Given the description of an element on the screen output the (x, y) to click on. 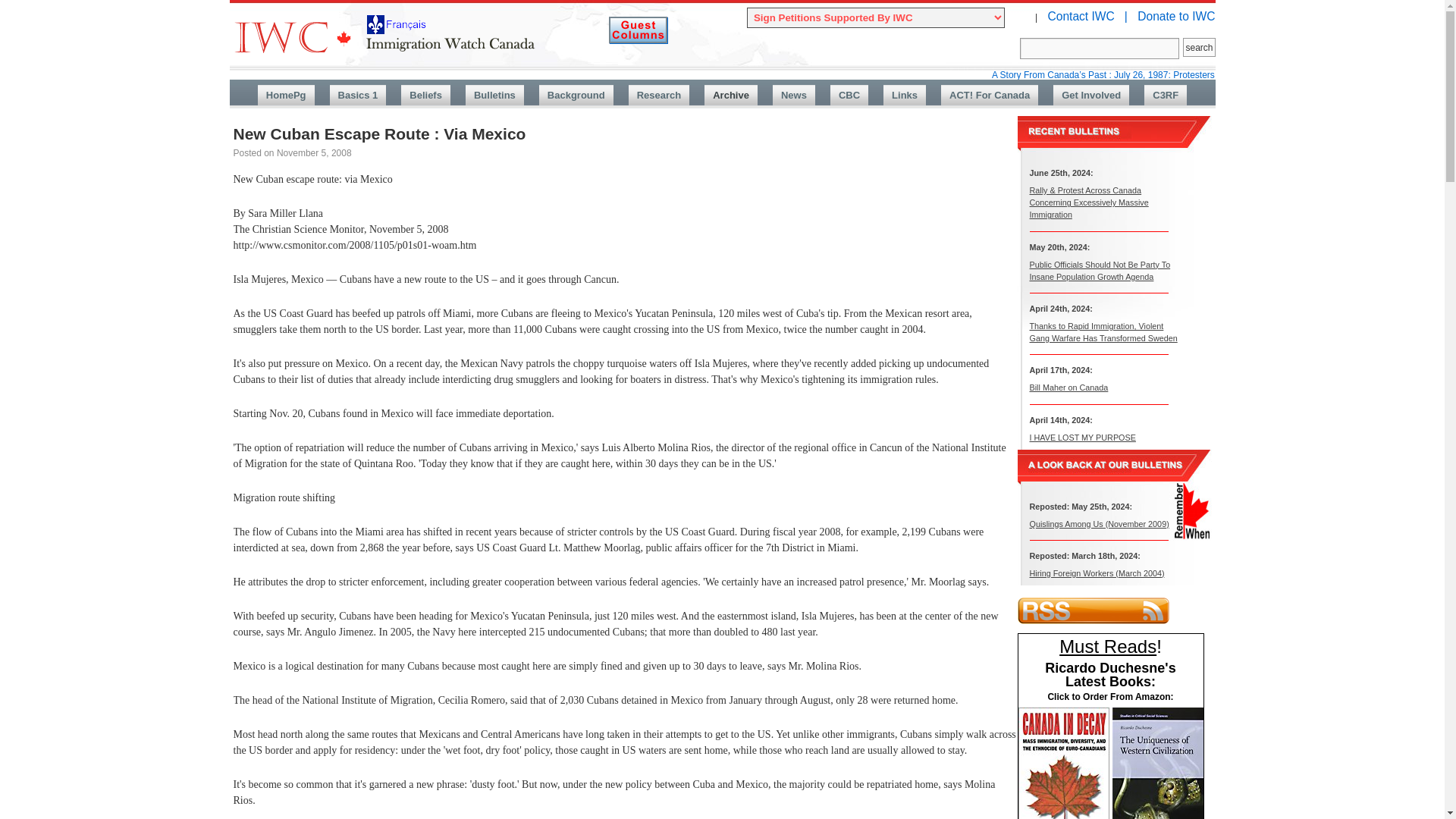
Donate to IWC (1175, 15)
Canadians Citizens For Charter Rights and Freedoms (1165, 95)
Permanent Link to Bill Maher on Canada (1068, 387)
search (1198, 46)
search (1198, 46)
Permanent Link to I HAVE LOST MY PURPOSE (1082, 436)
Search (1099, 47)
